Given the description of an element on the screen output the (x, y) to click on. 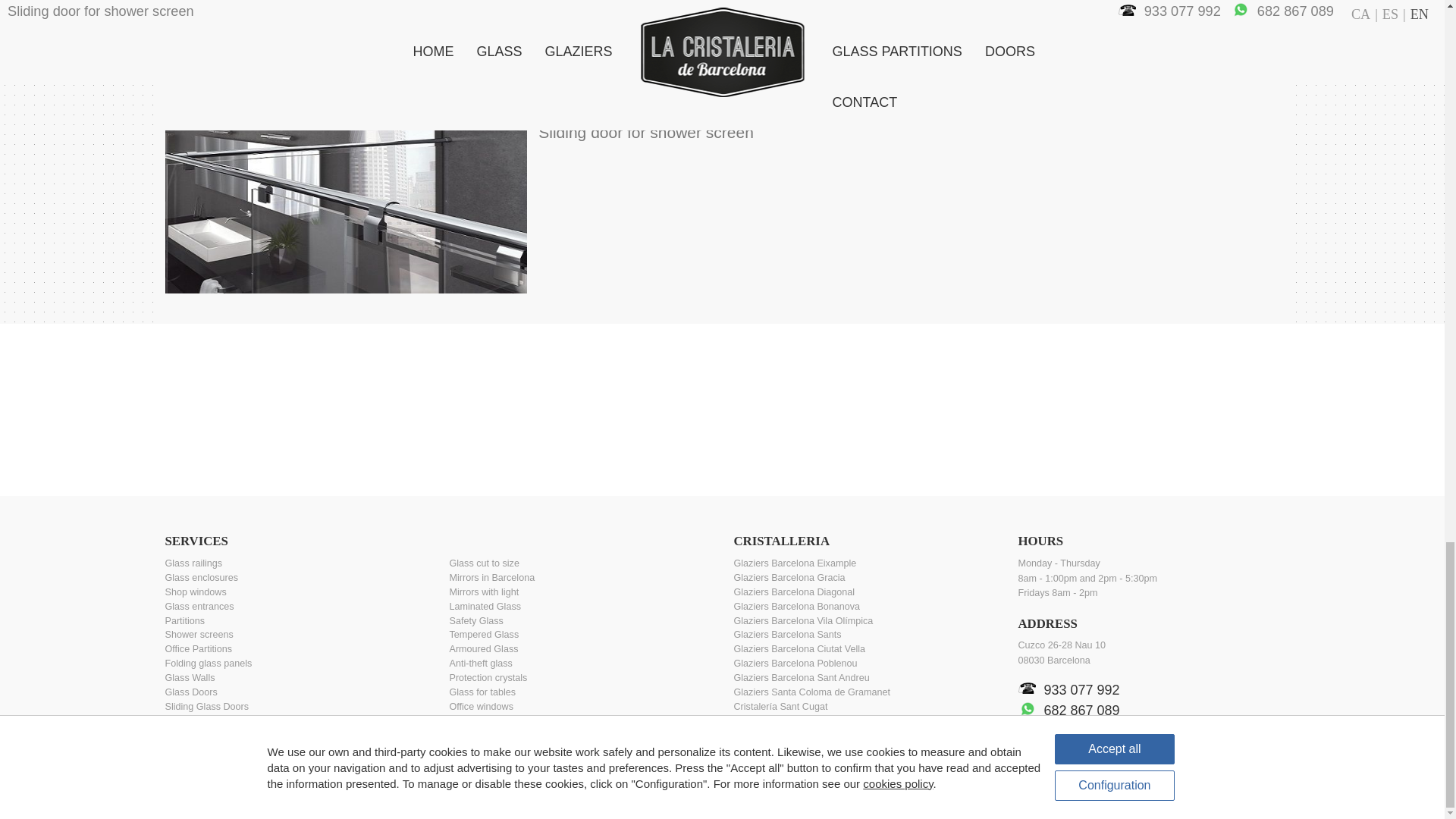
Sliding door for shower screen (346, 207)
ELEGANT 300 (346, 52)
